Given the description of an element on the screen output the (x, y) to click on. 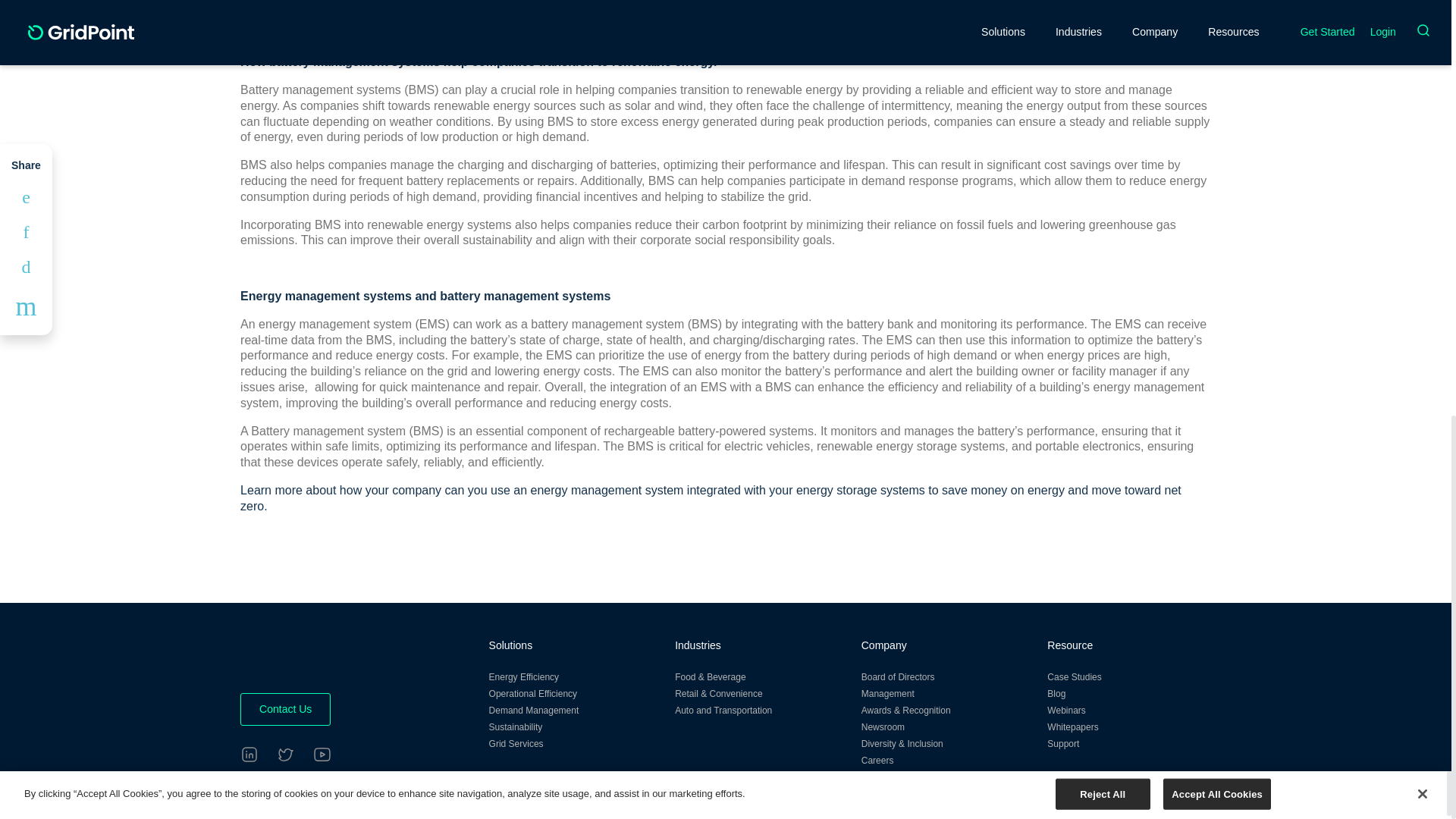
Energy Efficiency (524, 676)
Industries (697, 645)
Solutions (510, 645)
Company (884, 645)
Sustainability (516, 726)
Demand Management (534, 710)
Grid Services (516, 743)
Auto and Transportation (723, 710)
Contact Us (285, 708)
